Given the description of an element on the screen output the (x, y) to click on. 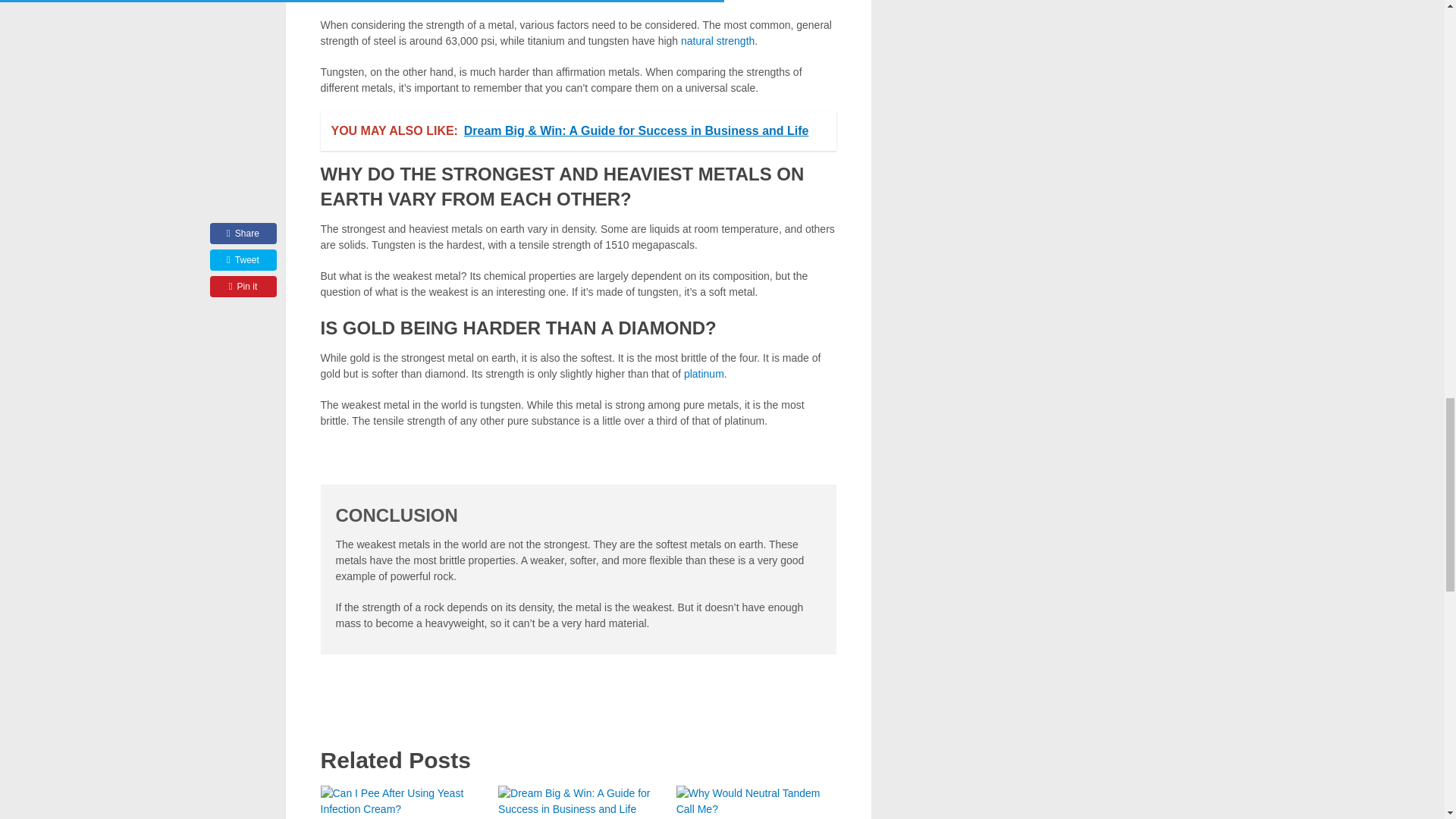
natural strength (717, 40)
Why Would Neutral Tandem Call Me? (756, 802)
Can I Pee After Using Yeast Infection Cream? (400, 802)
platinum (703, 373)
